Given the description of an element on the screen output the (x, y) to click on. 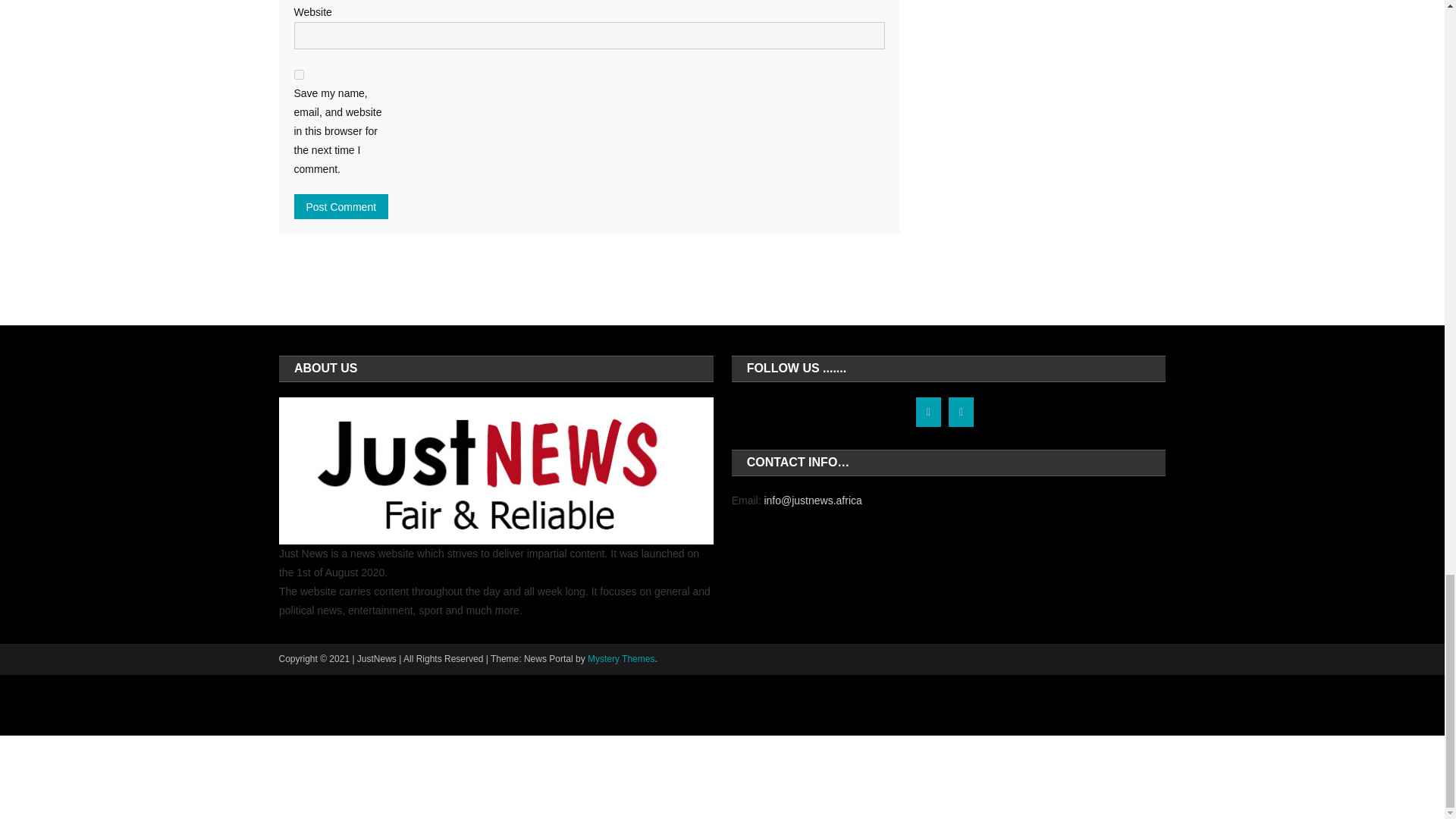
yes (299, 74)
Advertisement (721, 776)
Advertisement (721, 705)
Post Comment (341, 206)
